Given the description of an element on the screen output the (x, y) to click on. 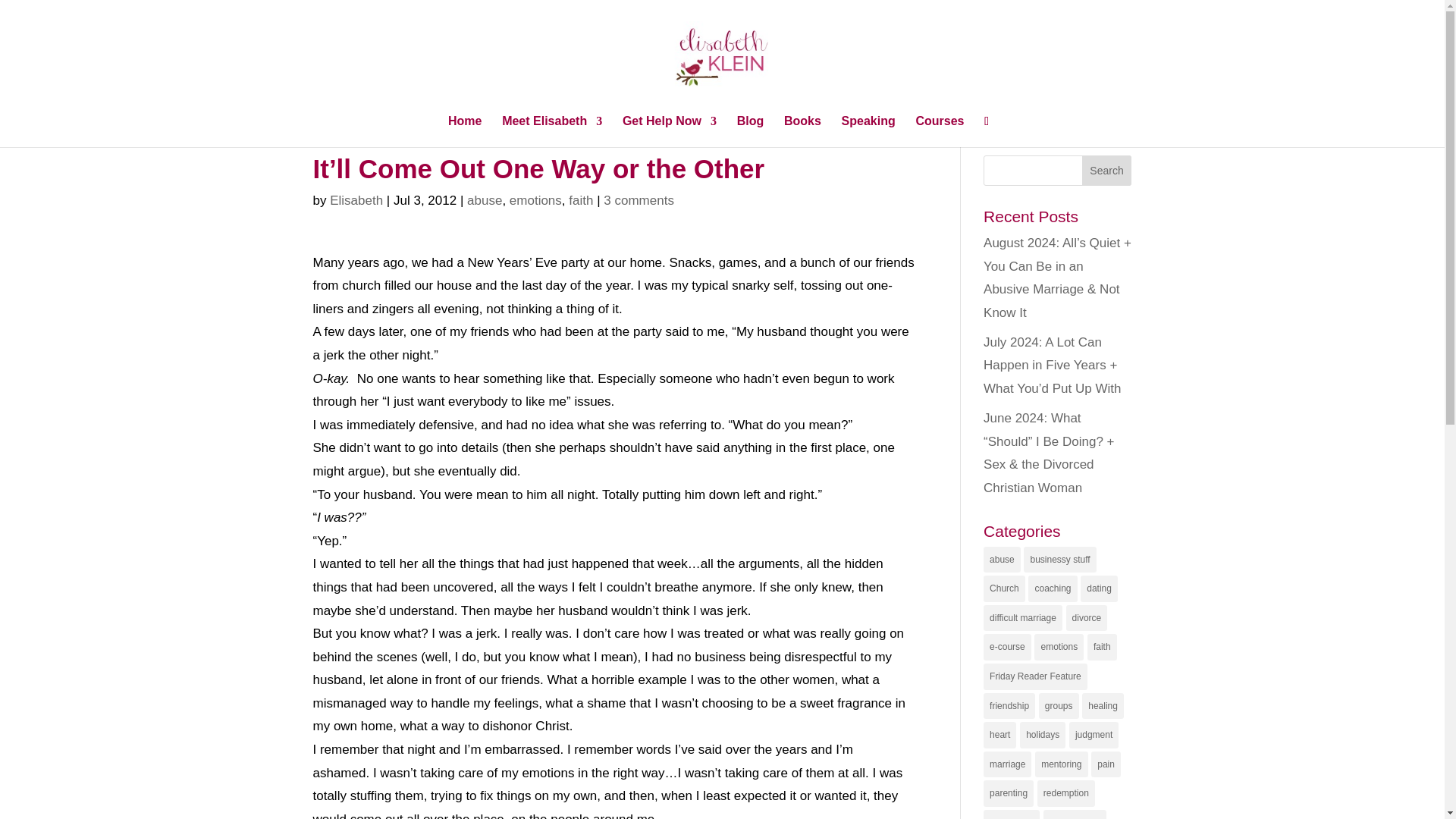
Search (1106, 170)
dating (1099, 588)
emotions (535, 200)
Get Help Now (669, 131)
Friday Reader Feature (1035, 676)
abuse (484, 200)
healing (1102, 705)
faith (1101, 646)
abuse (1002, 560)
Elisabeth (356, 200)
